Given the description of an element on the screen output the (x, y) to click on. 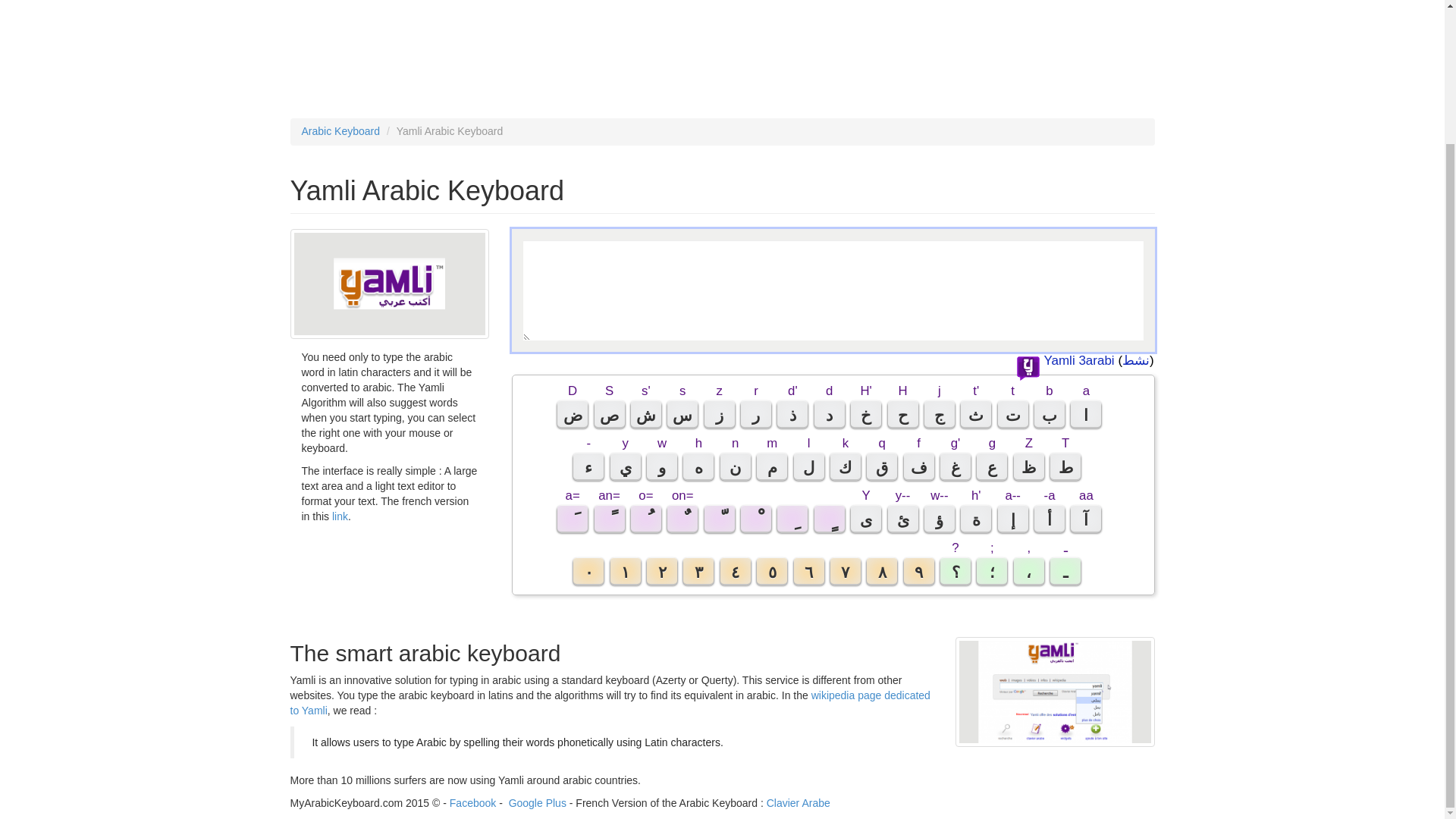
link (339, 516)
Advertisement (721, 51)
Arabic Keyboard (340, 131)
Yamli Arabic Keyboard (389, 284)
Yamli Arabic Keyboard (1054, 691)
